Given the description of an element on the screen output the (x, y) to click on. 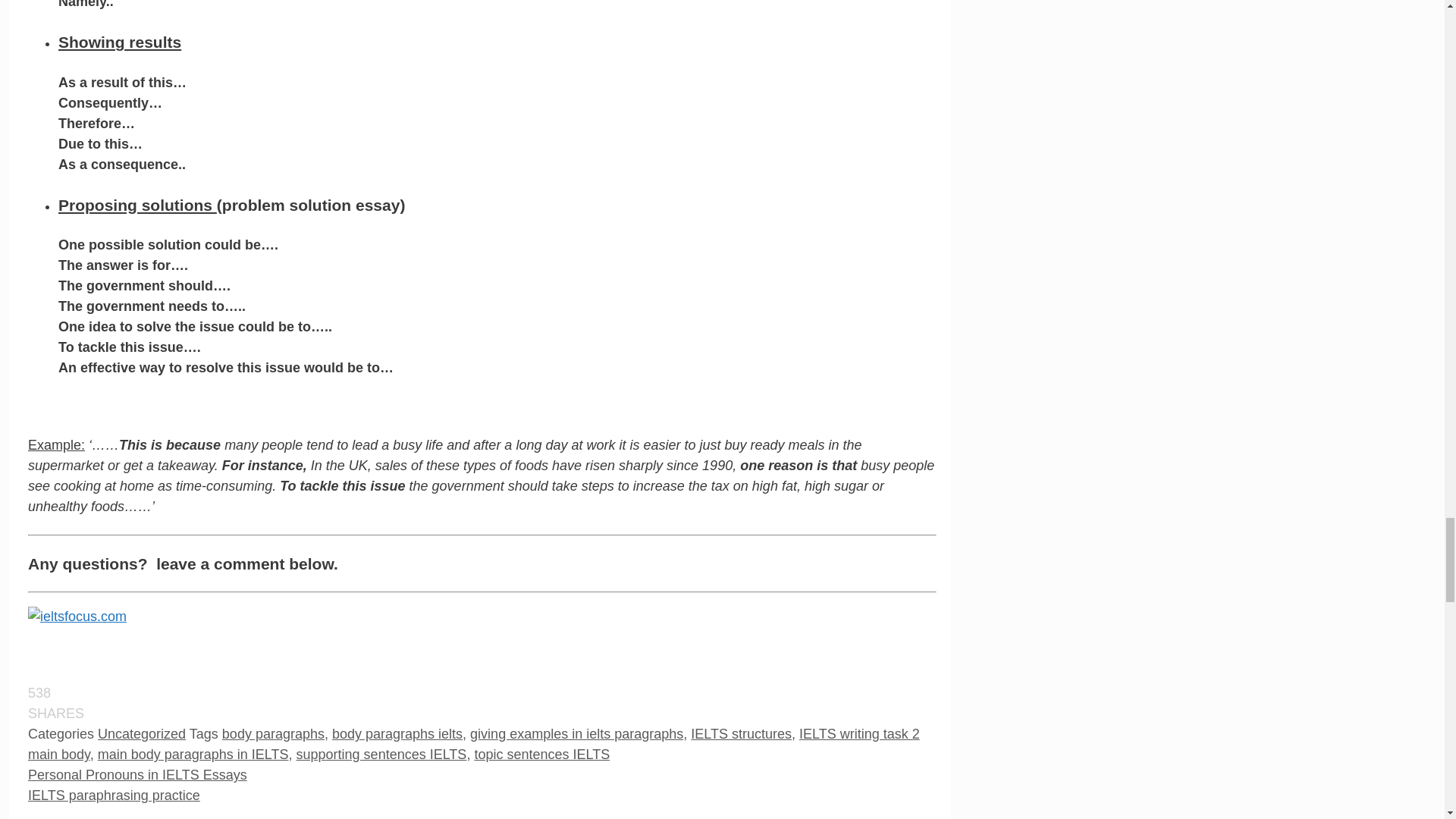
IELTS structures (741, 734)
Share (538, 693)
giving examples in ielts paragraphs (576, 734)
main body paragraphs in IELTS (192, 754)
IELTS writing task 2 main body (473, 744)
Tweet (538, 723)
Uncategorized (141, 734)
body paragraphs ielts (397, 734)
body paragraphs (273, 734)
